Given the description of an element on the screen output the (x, y) to click on. 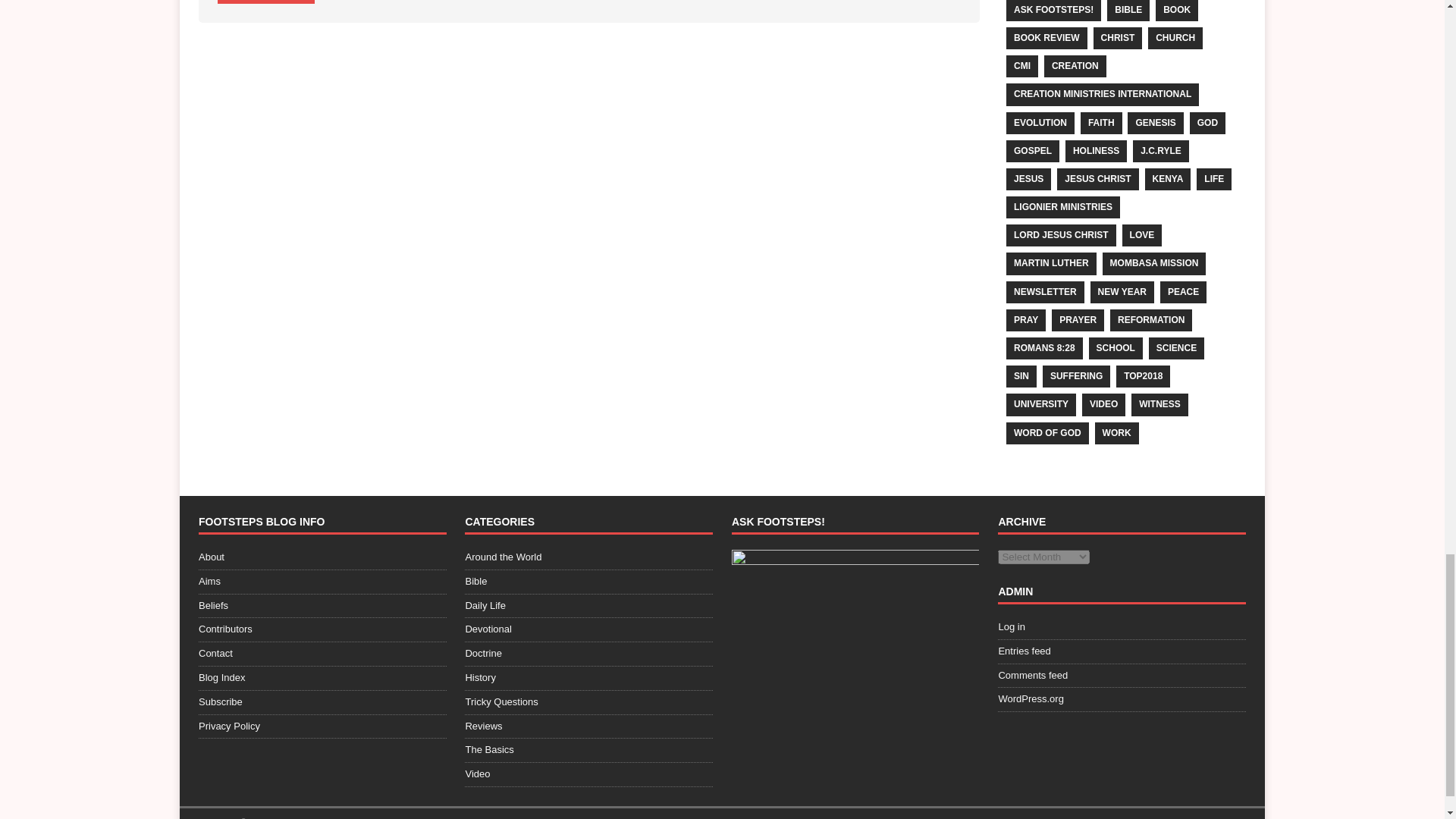
Post Comment (265, 2)
